Given the description of an element on the screen output the (x, y) to click on. 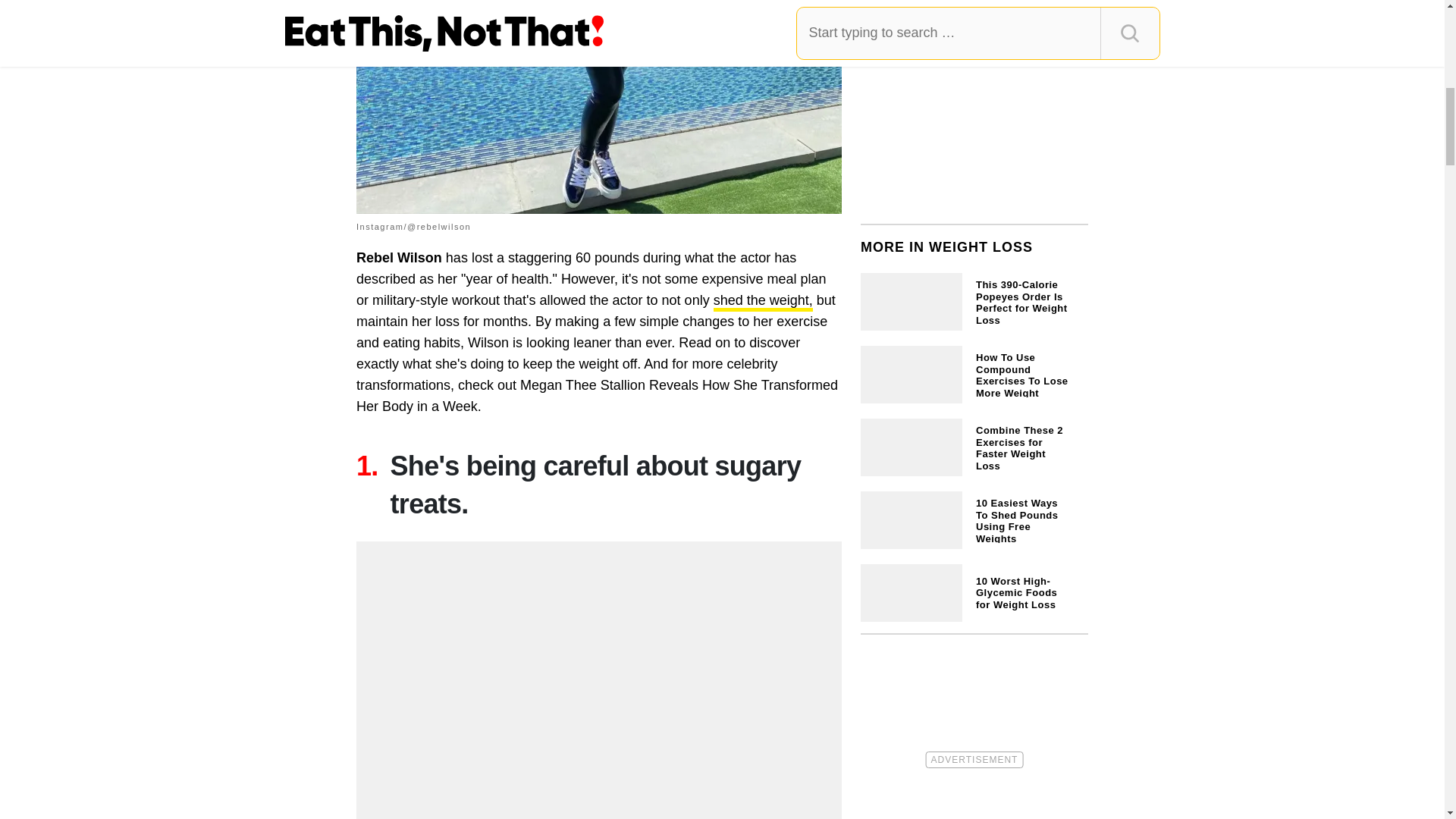
This 390-Calorie Popeyes Order Is Perfect for Weight Loss (973, 299)
